Given the description of an element on the screen output the (x, y) to click on. 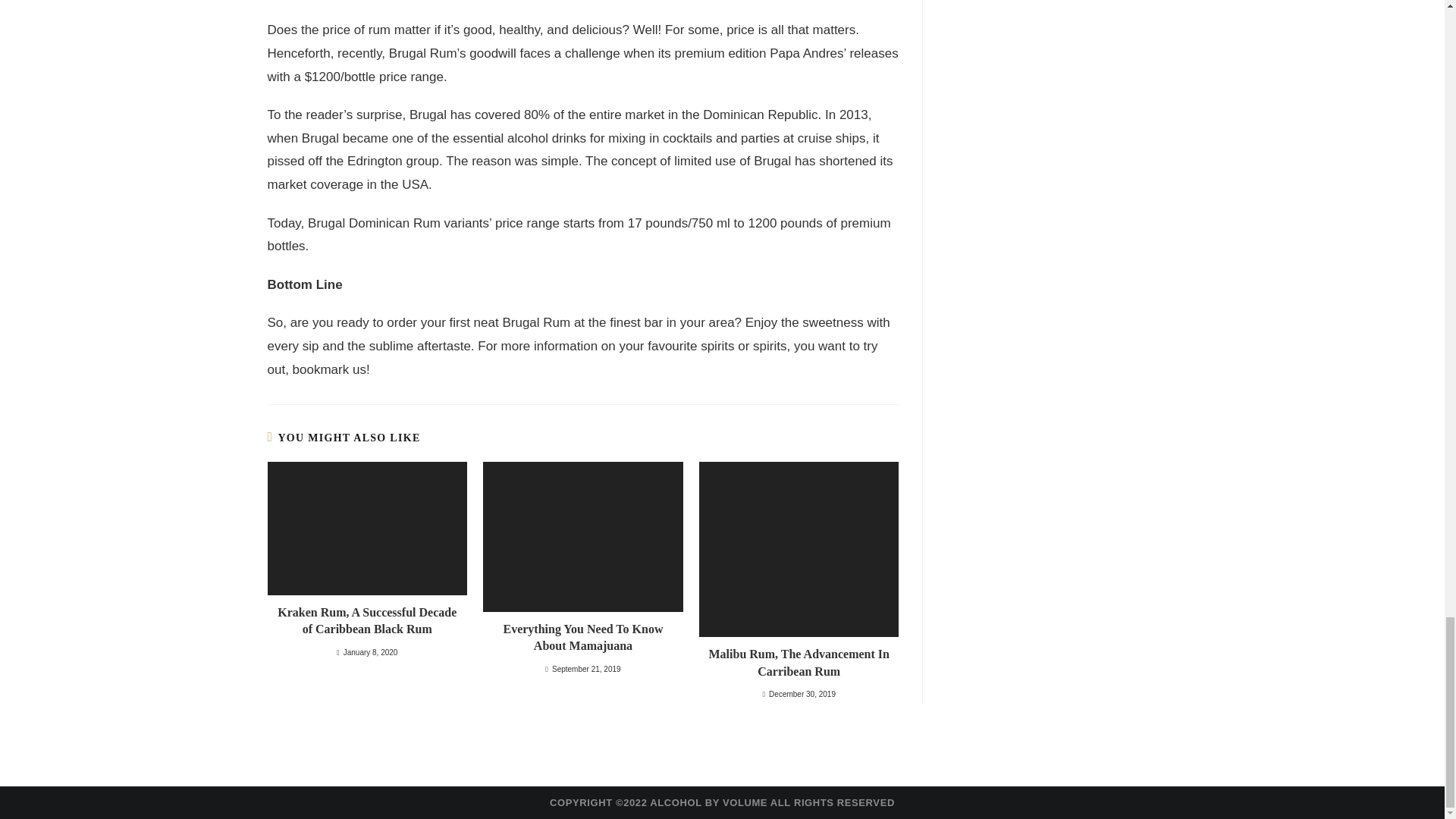
Kraken Rum, A Successful Decade of Caribbean Black Rum (366, 621)
Everything You Need To Know About Mamajuana (582, 637)
Everything You Need To Know About Mamajuana (582, 637)
Kraken Rum, A Successful Decade of Caribbean Black Rum (366, 621)
Malibu Rum, The Advancement In Carribean Rum (798, 663)
Malibu Rum, The Advancement In Carribean Rum (798, 663)
